Given the description of an element on the screen output the (x, y) to click on. 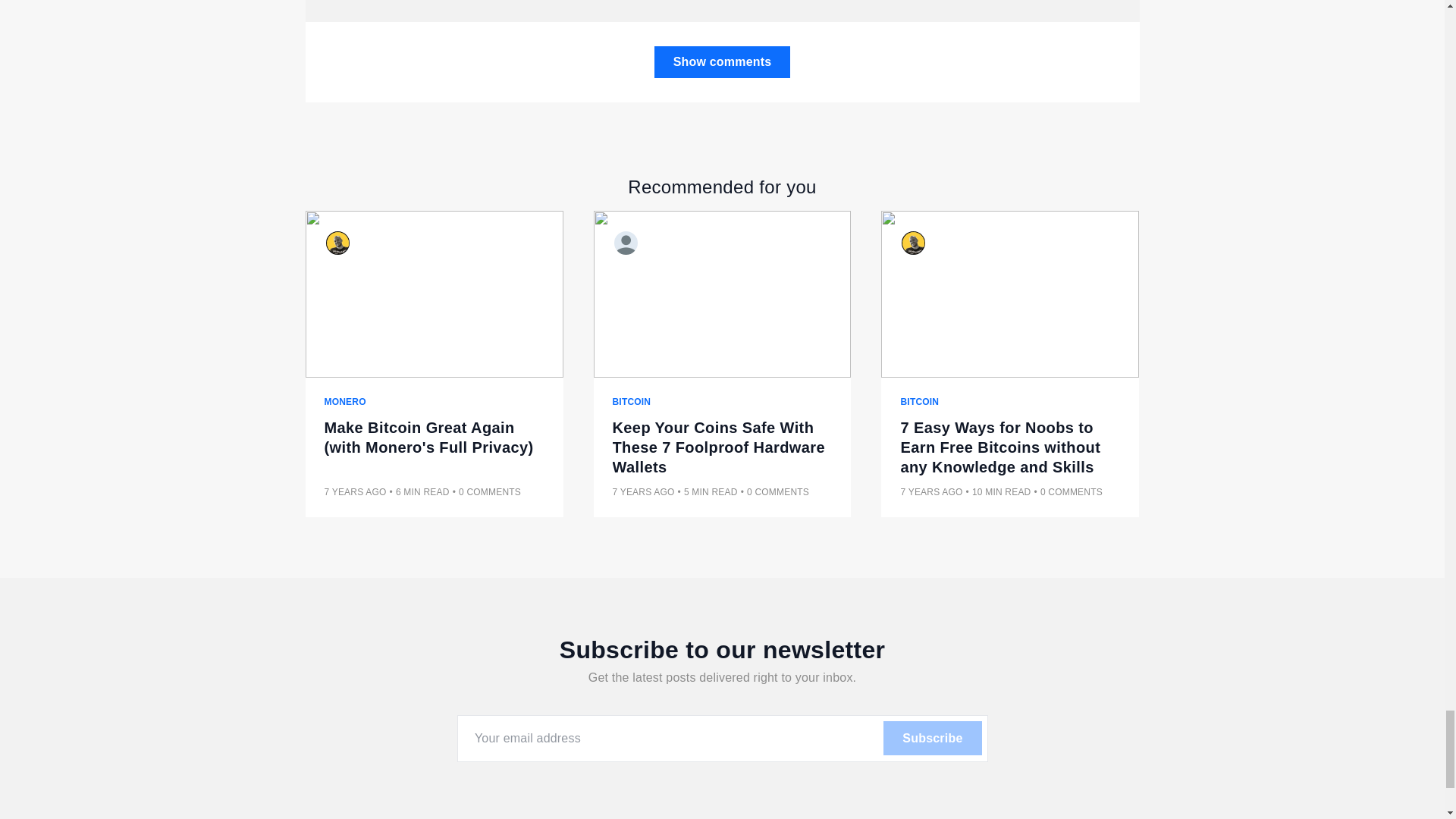
Keep Your Coins Safe With These 7 Foolproof Hardware Wallets (722, 446)
Show comments (721, 61)
